Given the description of an element on the screen output the (x, y) to click on. 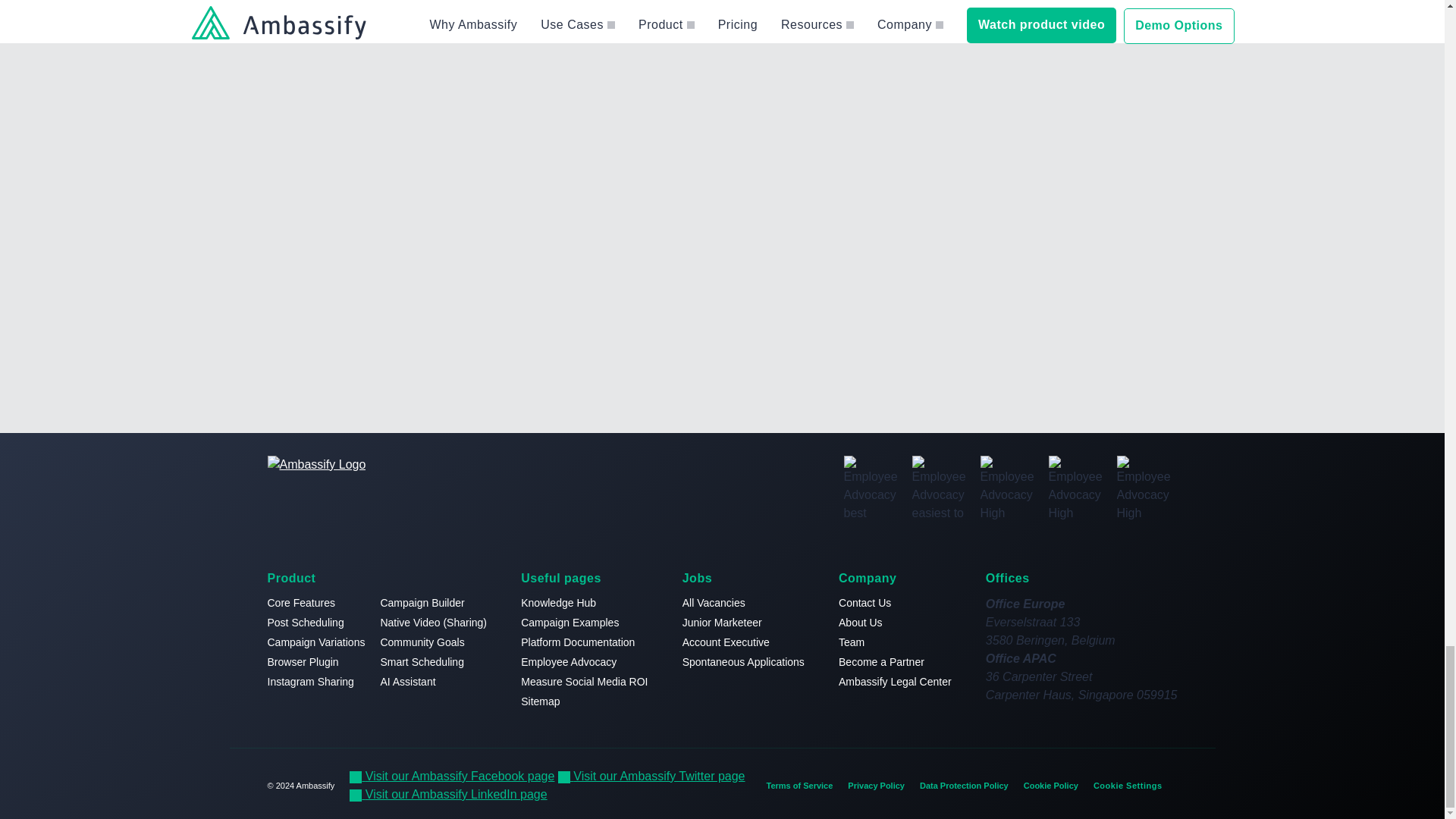
Visit our Ambassify Twitter page (651, 776)
Visit our Ambassify LinkedIn page (448, 794)
Visit our Ambassify Facebook page (451, 776)
